Given the description of an element on the screen output the (x, y) to click on. 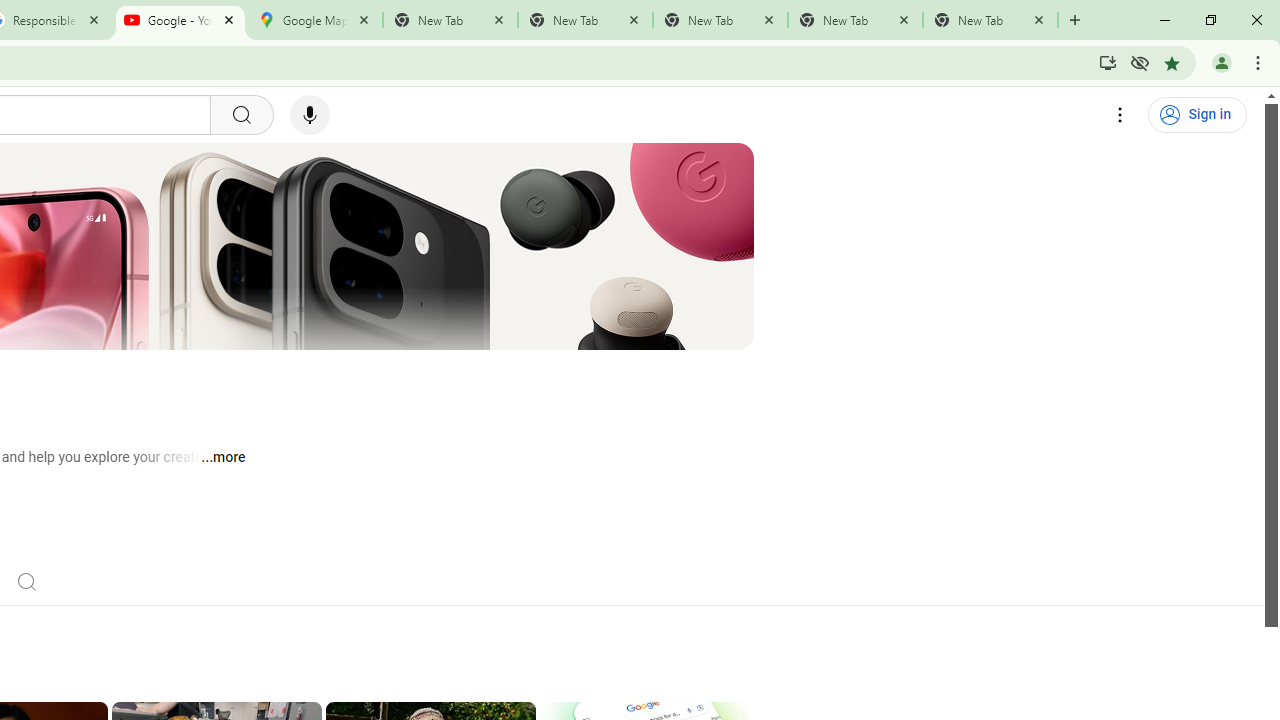
New Tab (990, 20)
